Given the description of an element on the screen output the (x, y) to click on. 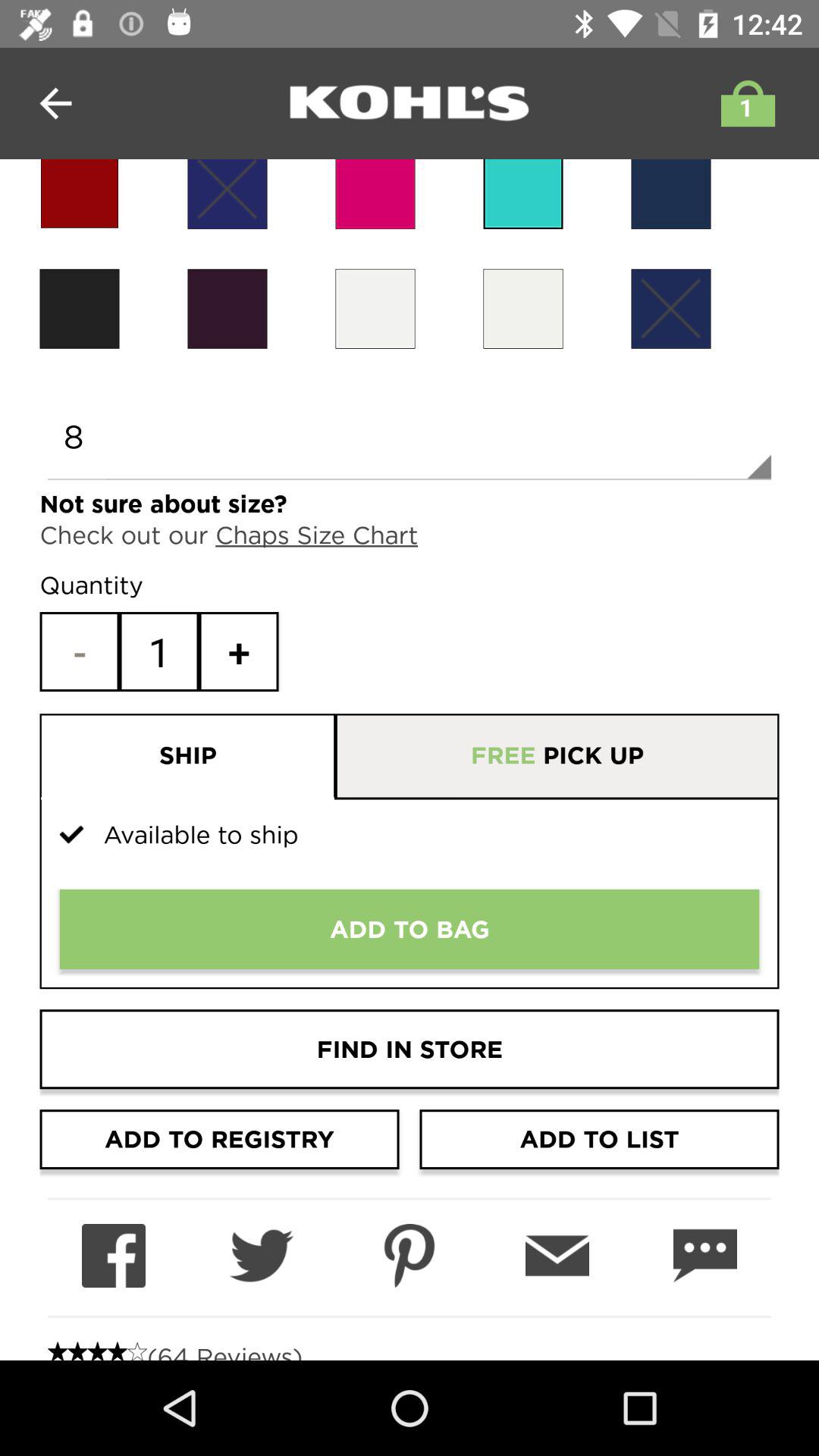
chose color (670, 308)
